Given the description of an element on the screen output the (x, y) to click on. 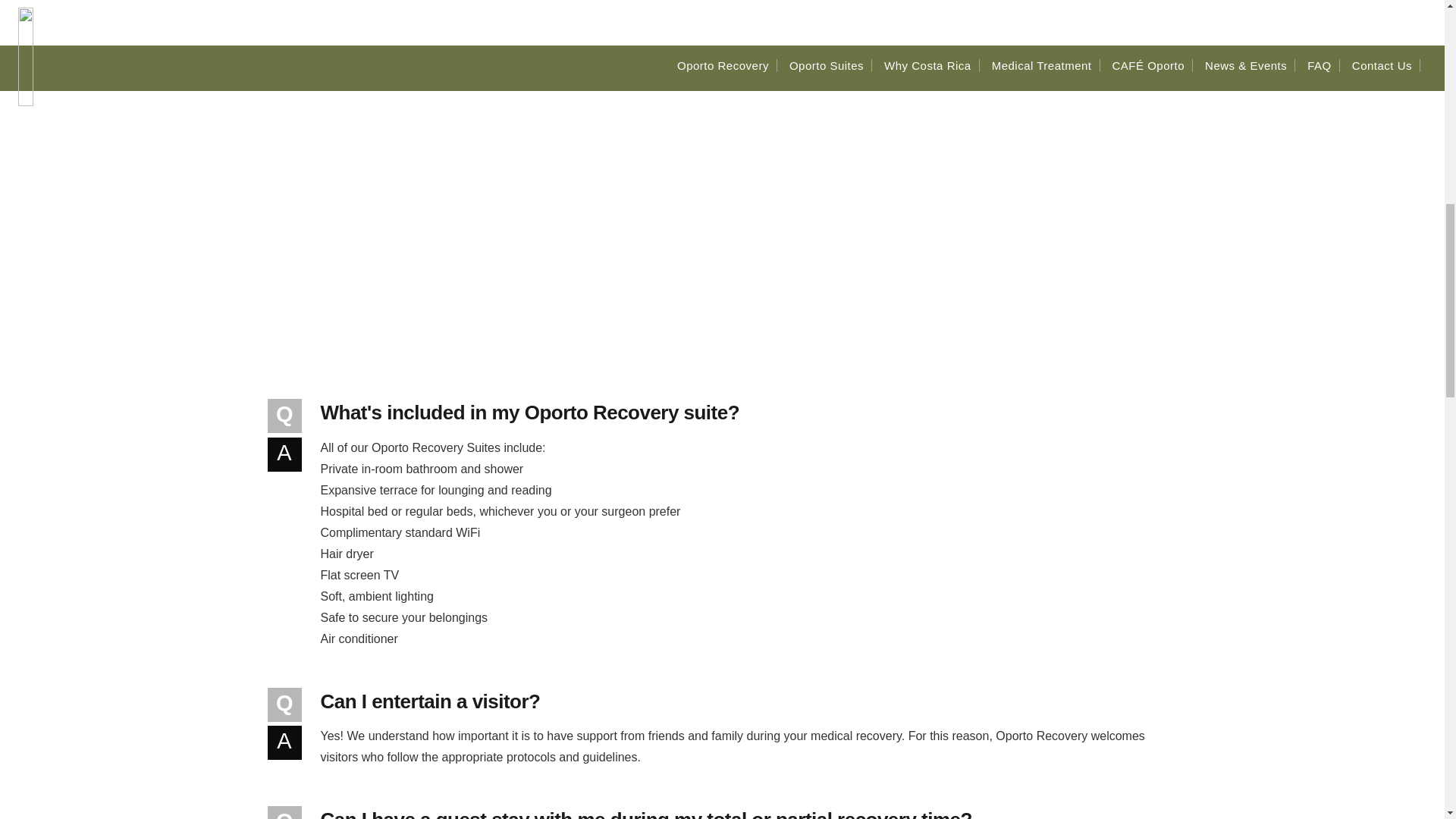
Back to top (1413, 30)
